Given the description of an element on the screen output the (x, y) to click on. 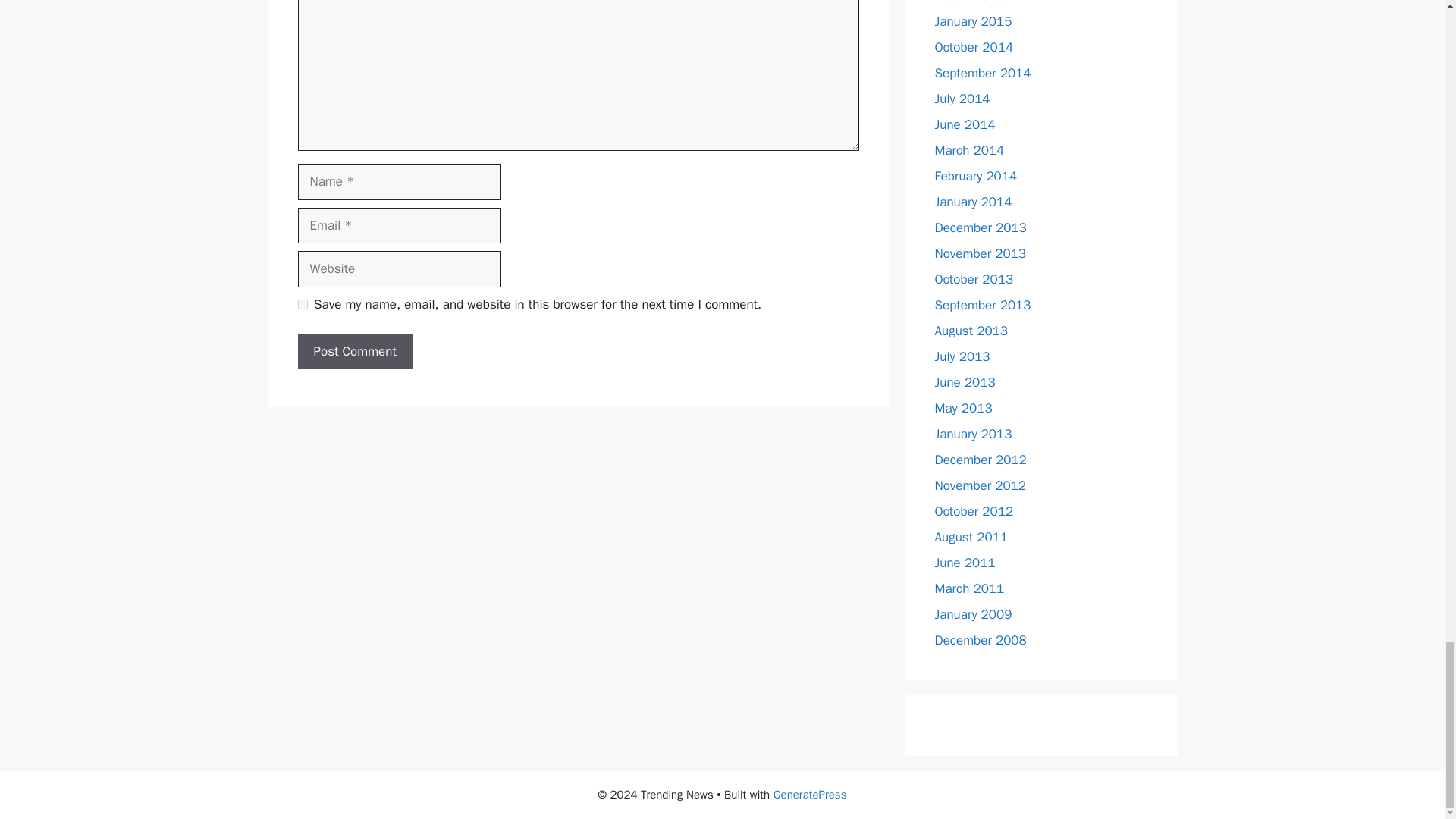
yes (302, 304)
Post Comment (354, 351)
Post Comment (354, 351)
